Given the description of an element on the screen output the (x, y) to click on. 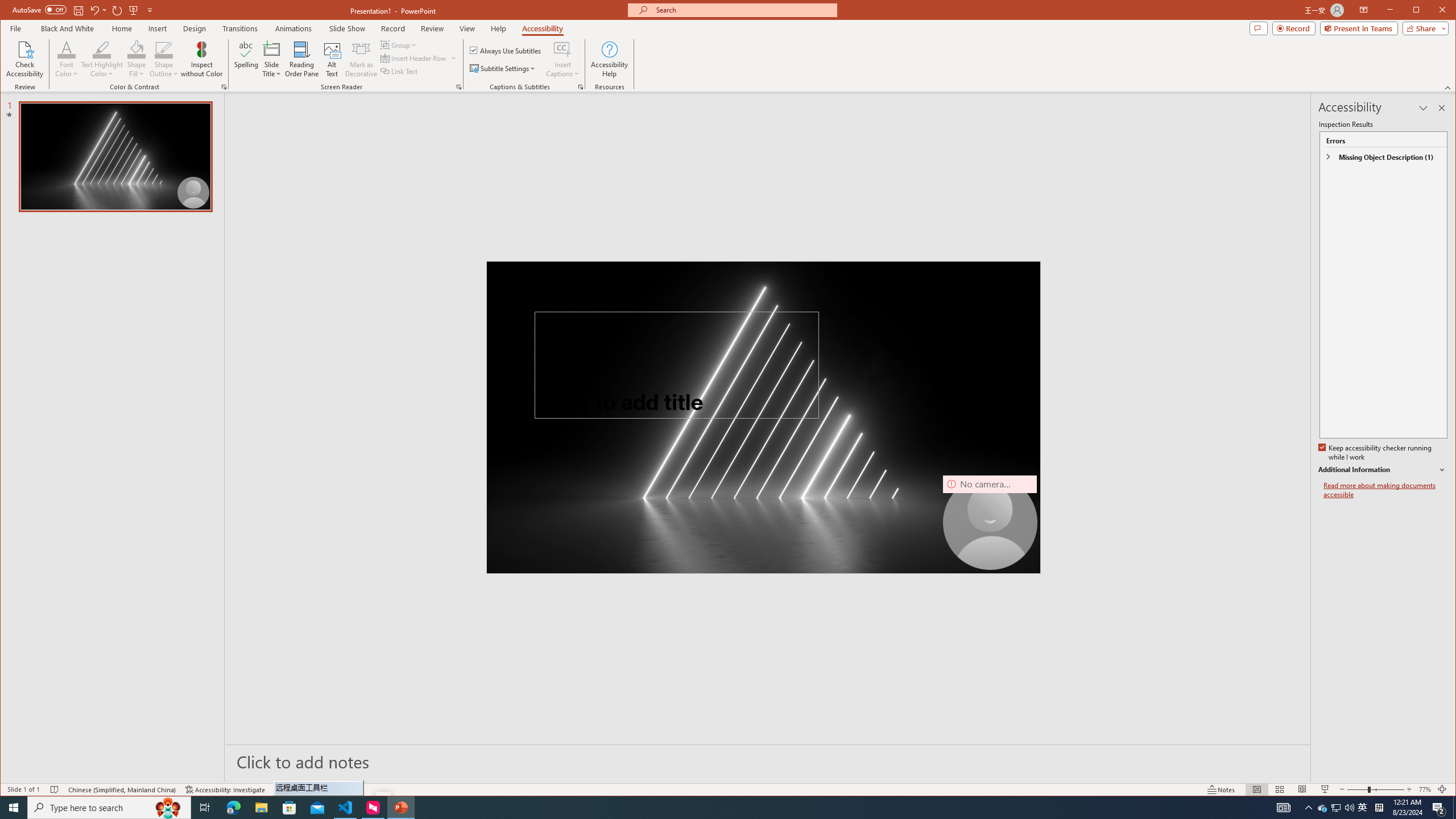
Link Text (399, 70)
Running applications (700, 807)
